Given the description of an element on the screen output the (x, y) to click on. 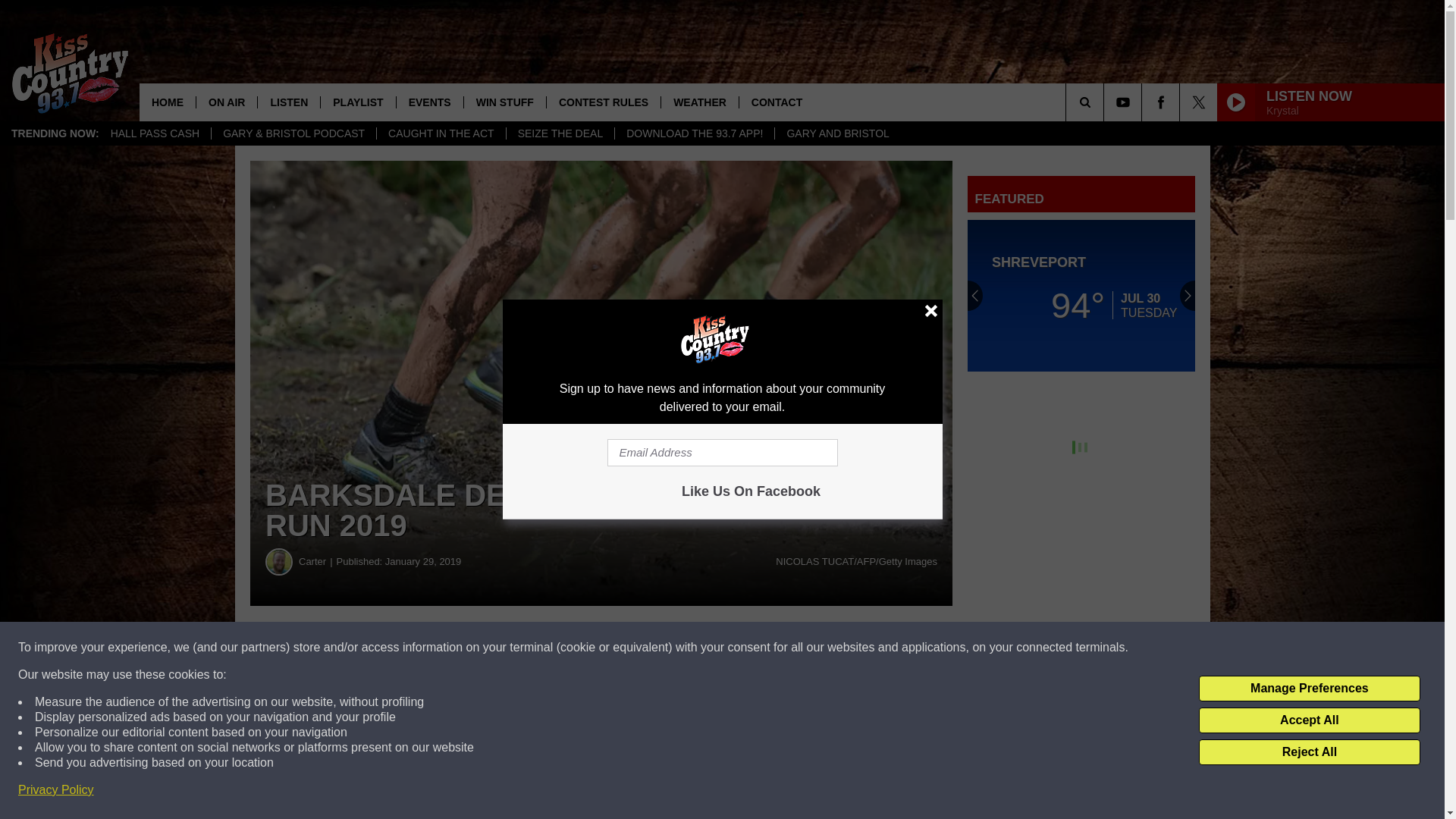
Accept All (1309, 720)
SEARCH (1106, 102)
GARY AND BRISTOL (836, 133)
WIN STUFF (504, 102)
Share on Facebook (460, 647)
CAUGHT IN THE ACT (440, 133)
SEARCH (1106, 102)
Shreveport Weather (1081, 295)
Reject All (1309, 751)
Privacy Policy (55, 789)
DOWNLOAD THE 93.7 APP! (694, 133)
Email Address (722, 452)
CONTEST RULES (603, 102)
SEIZE THE DEAL (559, 133)
EVENTS (429, 102)
